Given the description of an element on the screen output the (x, y) to click on. 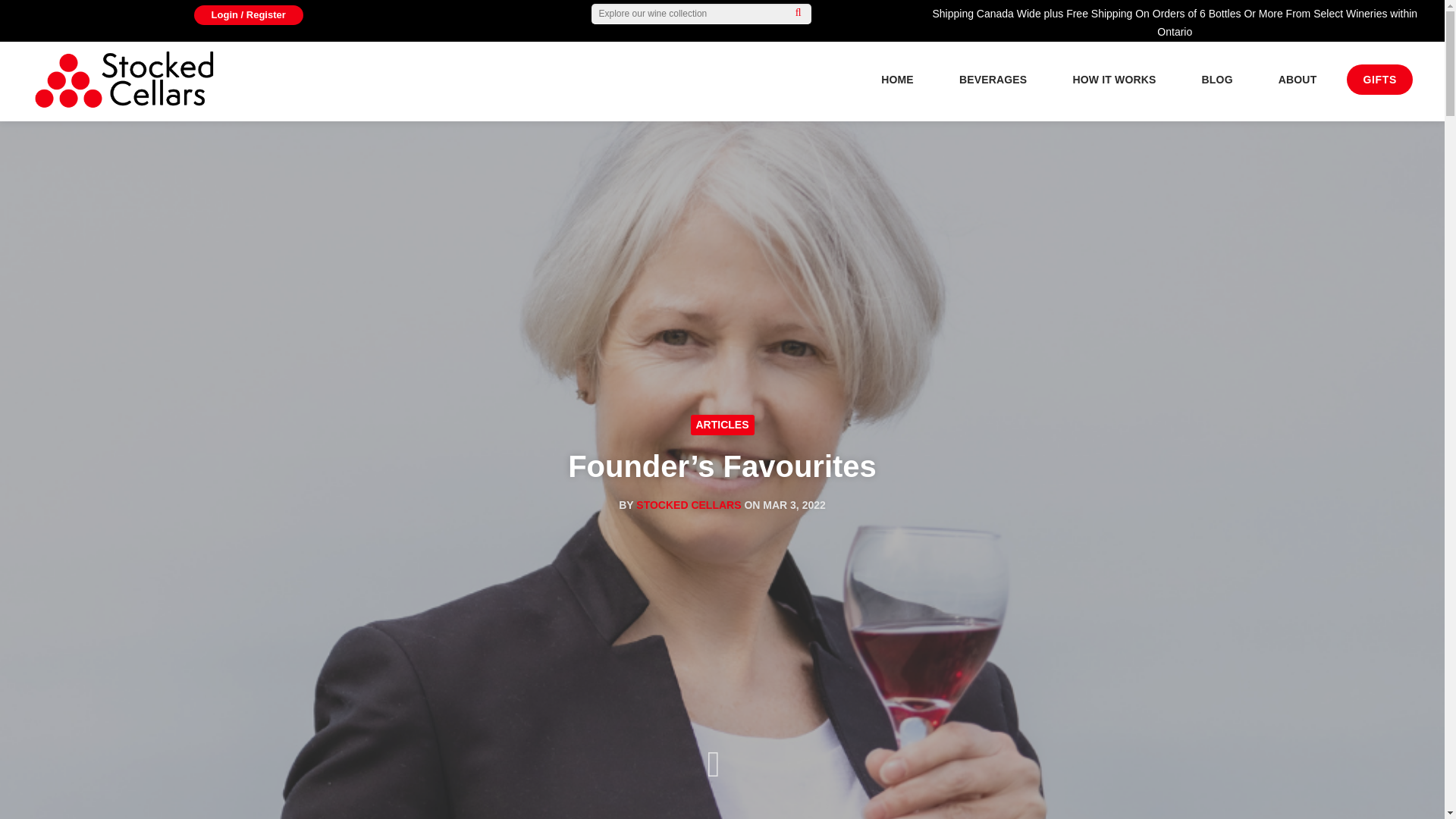
HOME (897, 79)
BLOG (1216, 79)
HOW IT WORKS (1113, 79)
BEVERAGES (992, 79)
